Given the description of an element on the screen output the (x, y) to click on. 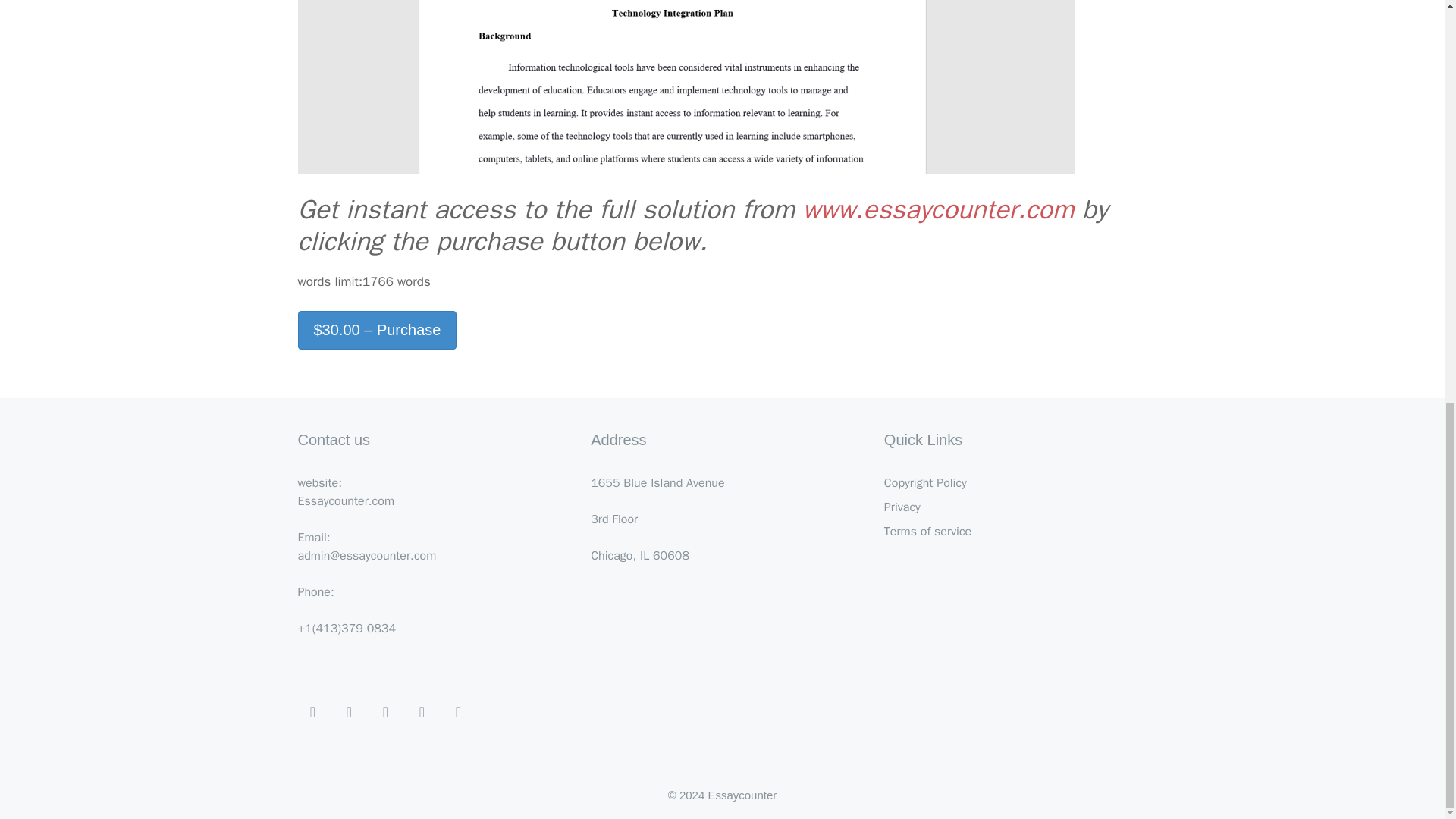
Dribbble (312, 712)
YouTube (421, 712)
Copyright Policy (924, 482)
Privacy (901, 507)
Terms of service (927, 531)
Github (457, 712)
Scroll back to top (1406, 748)
www.essaycounter.com (938, 209)
Twitter (384, 712)
Instagram (348, 712)
